Given the description of an element on the screen output the (x, y) to click on. 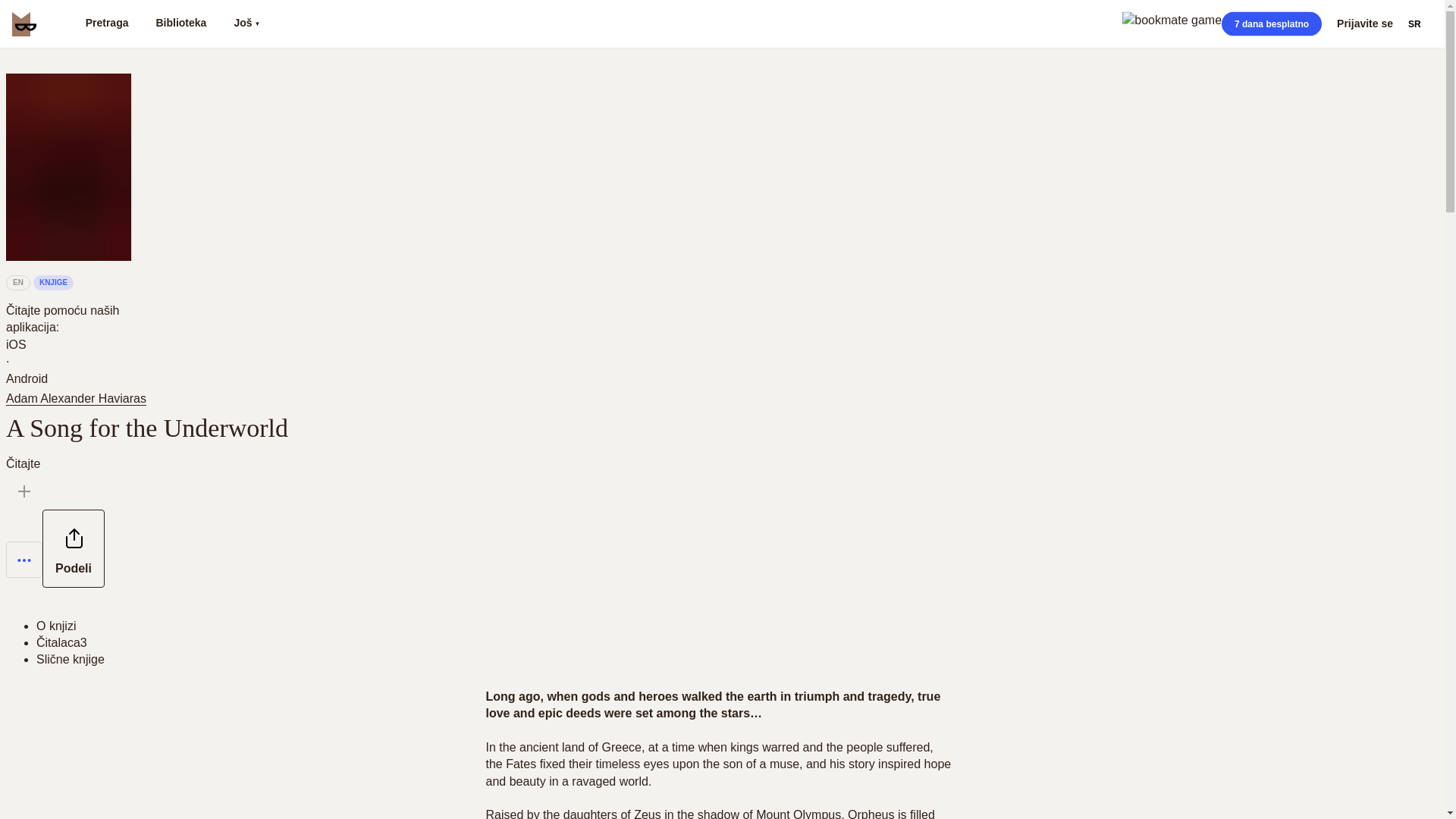
7 dana besplatno (1271, 23)
Pretraga (106, 24)
Biblioteka (180, 24)
Adam Alexander Haviaras (76, 398)
O knjizi (55, 625)
Adam Alexander Haviaras (78, 398)
